Given the description of an element on the screen output the (x, y) to click on. 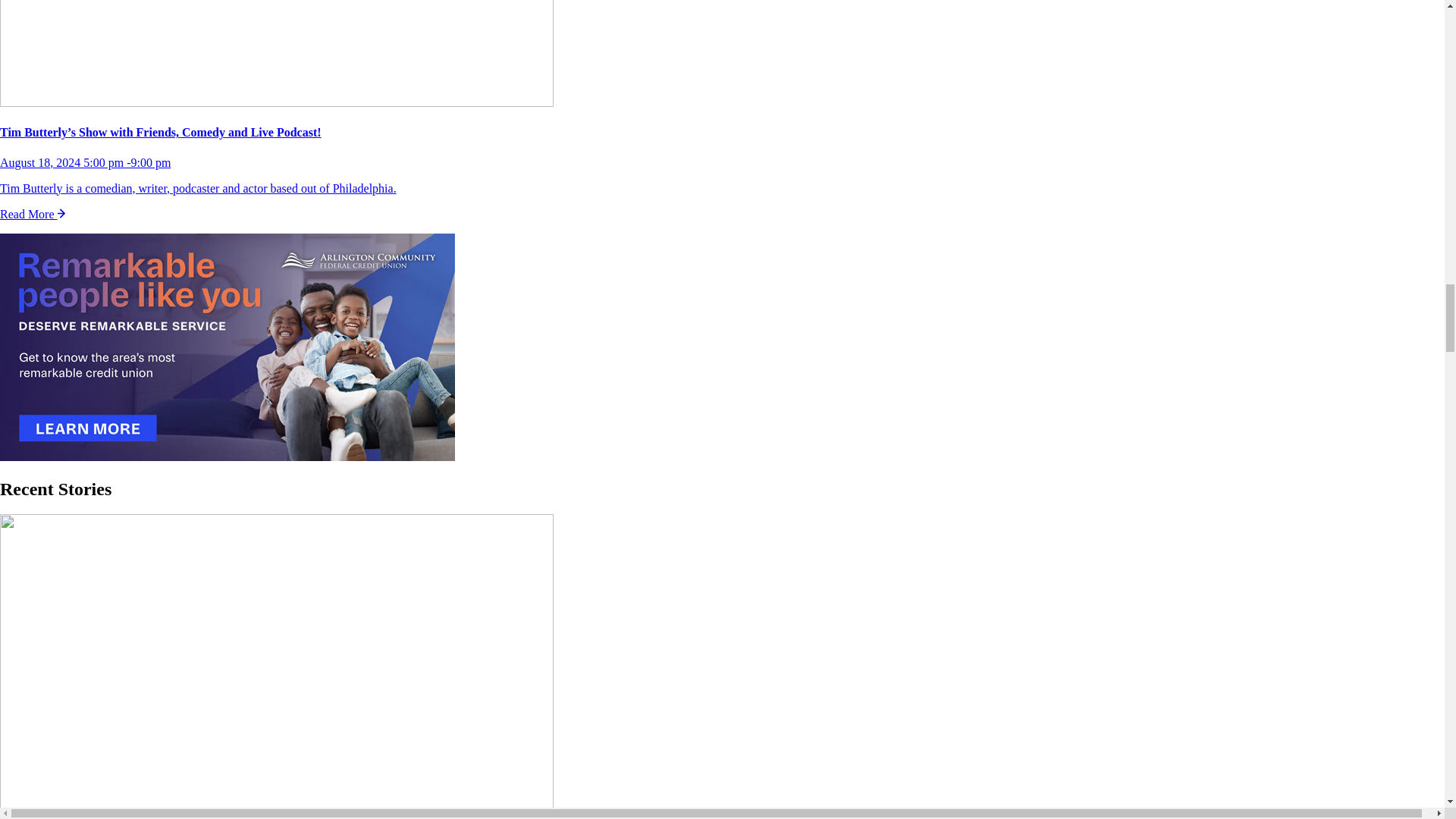
Remarkable People Like You PoPville (227, 348)
